Given the description of an element on the screen output the (x, y) to click on. 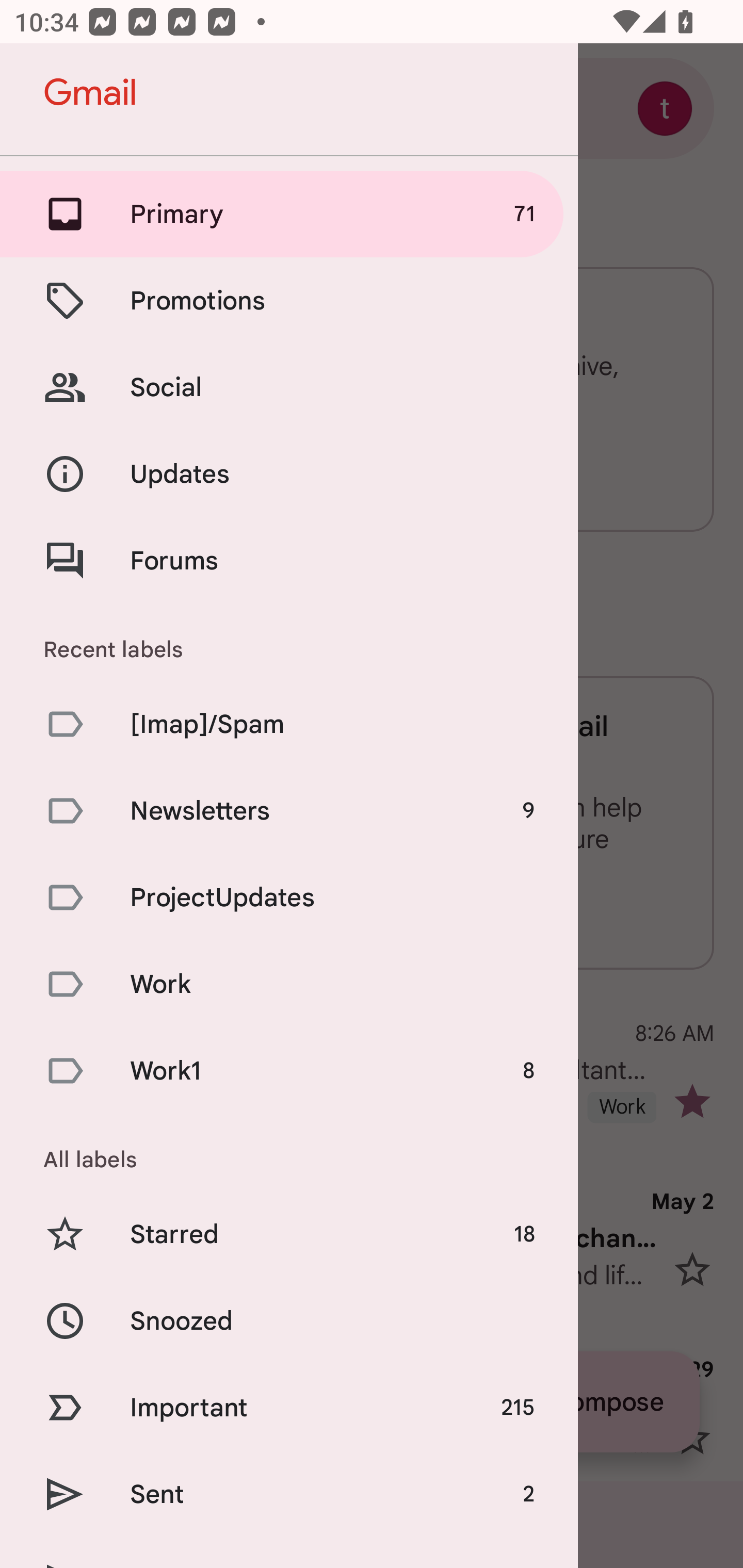
Primary 71 (289, 213)
Promotions (289, 300)
Social (289, 387)
Updates (289, 474)
Forums (289, 560)
[Imap]/Spam (289, 723)
Newsletters 9 (289, 810)
ProjectUpdates (289, 897)
Work (289, 983)
Work1 8 (289, 1070)
Starred 18 (289, 1234)
Snoozed (289, 1320)
Important 215 (289, 1407)
Sent 2 (289, 1494)
